Given the description of an element on the screen output the (x, y) to click on. 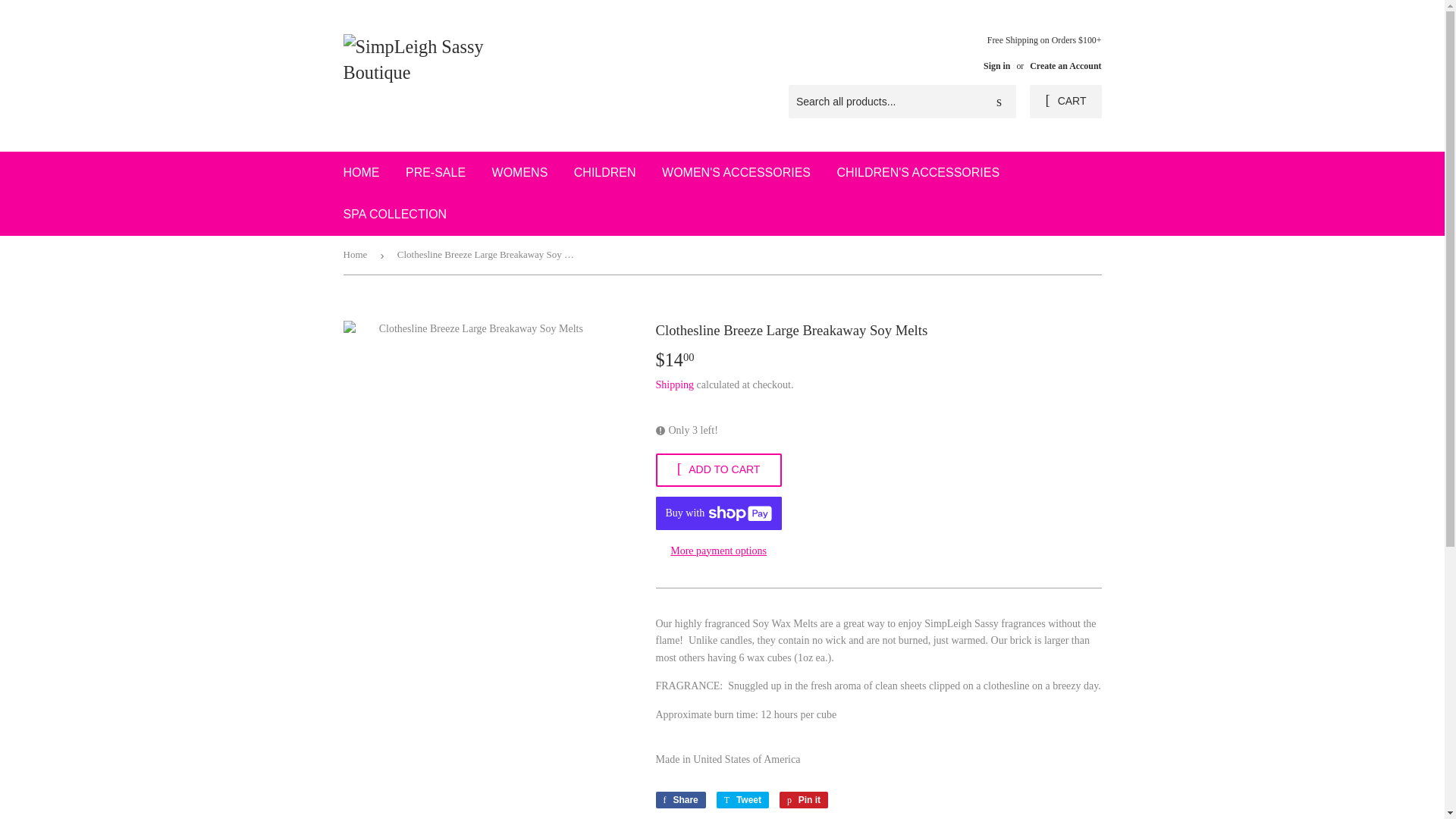
SPA COLLECTION (394, 214)
CHILDREN (604, 172)
Sign in (997, 65)
CHILDREN'S ACCESSORIES (917, 172)
Pin on Pinterest (803, 799)
Shipping (803, 799)
Tweet on Twitter (674, 384)
ADD TO CART (742, 799)
Create an Account (717, 469)
